Given the description of an element on the screen output the (x, y) to click on. 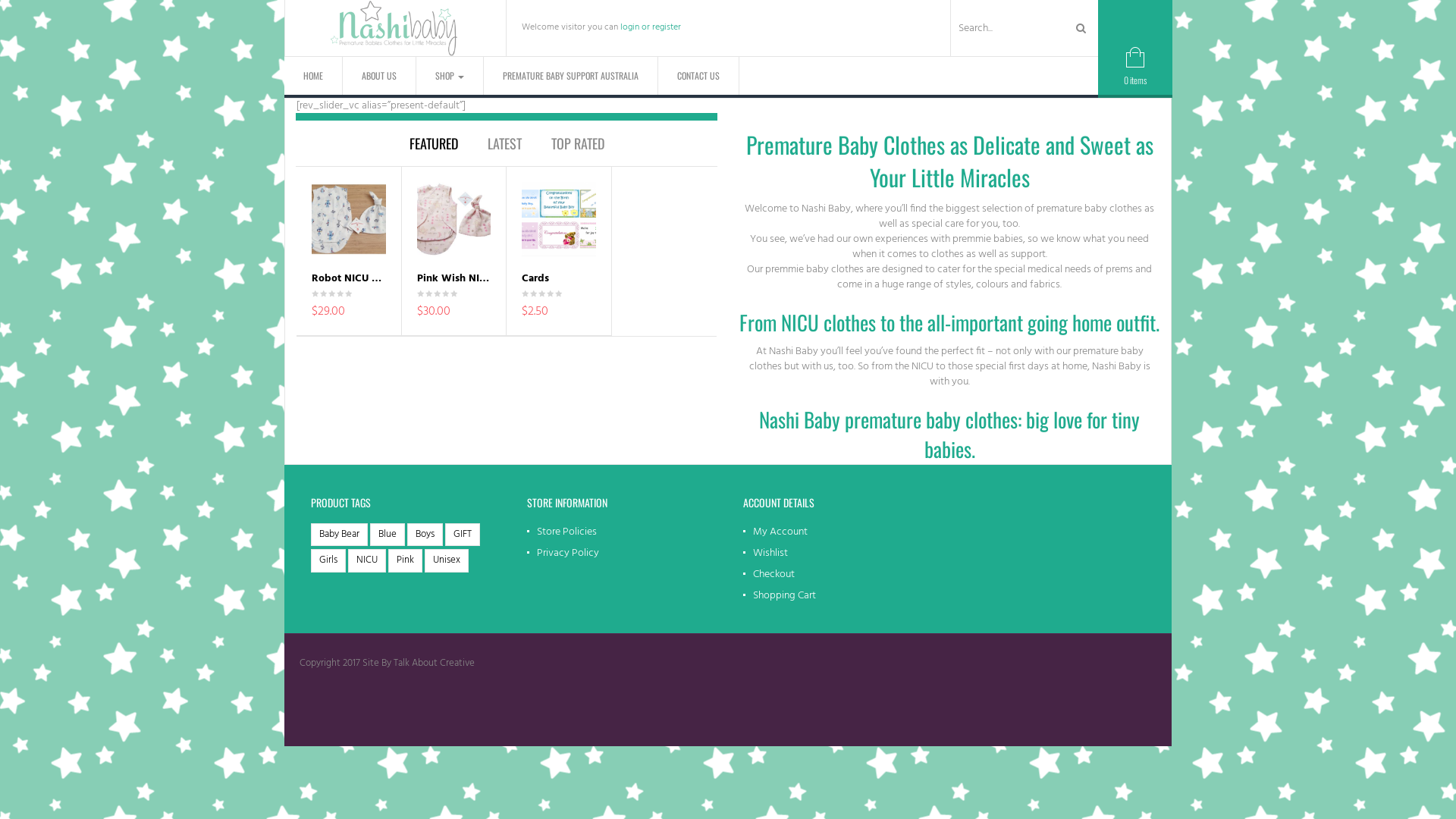
Boys Element type: text (424, 534)
Pink Wish NICU Vest & Hat 0.5-1.5kg Element type: text (504, 278)
HOME Element type: text (313, 75)
0 items Element type: text (1134, 72)
Shopping Cart Element type: text (779, 595)
Cards Element type: text (535, 278)
CONTACT US Element type: text (698, 75)
LATEST Element type: text (503, 143)
Blue Element type: text (387, 534)
Privacy Policy Element type: text (563, 552)
Unisex Element type: text (446, 560)
Girls Element type: text (327, 560)
My Account Element type: text (775, 531)
login or register Element type: text (650, 26)
PREMATURE BABY SUPPORT AUSTRALIA Element type: text (570, 75)
Wishlist Element type: text (765, 552)
FEATURED Element type: text (433, 143)
SHOP Element type: text (449, 75)
Pink Element type: text (405, 560)
ABOUT US Element type: text (379, 75)
Checkout Element type: text (768, 574)
Baby Bear Element type: text (338, 534)
NICU Element type: text (366, 560)
GIFT Element type: text (462, 534)
Store Policies Element type: text (561, 531)
TOP RATED Element type: text (576, 143)
